Given the description of an element on the screen output the (x, y) to click on. 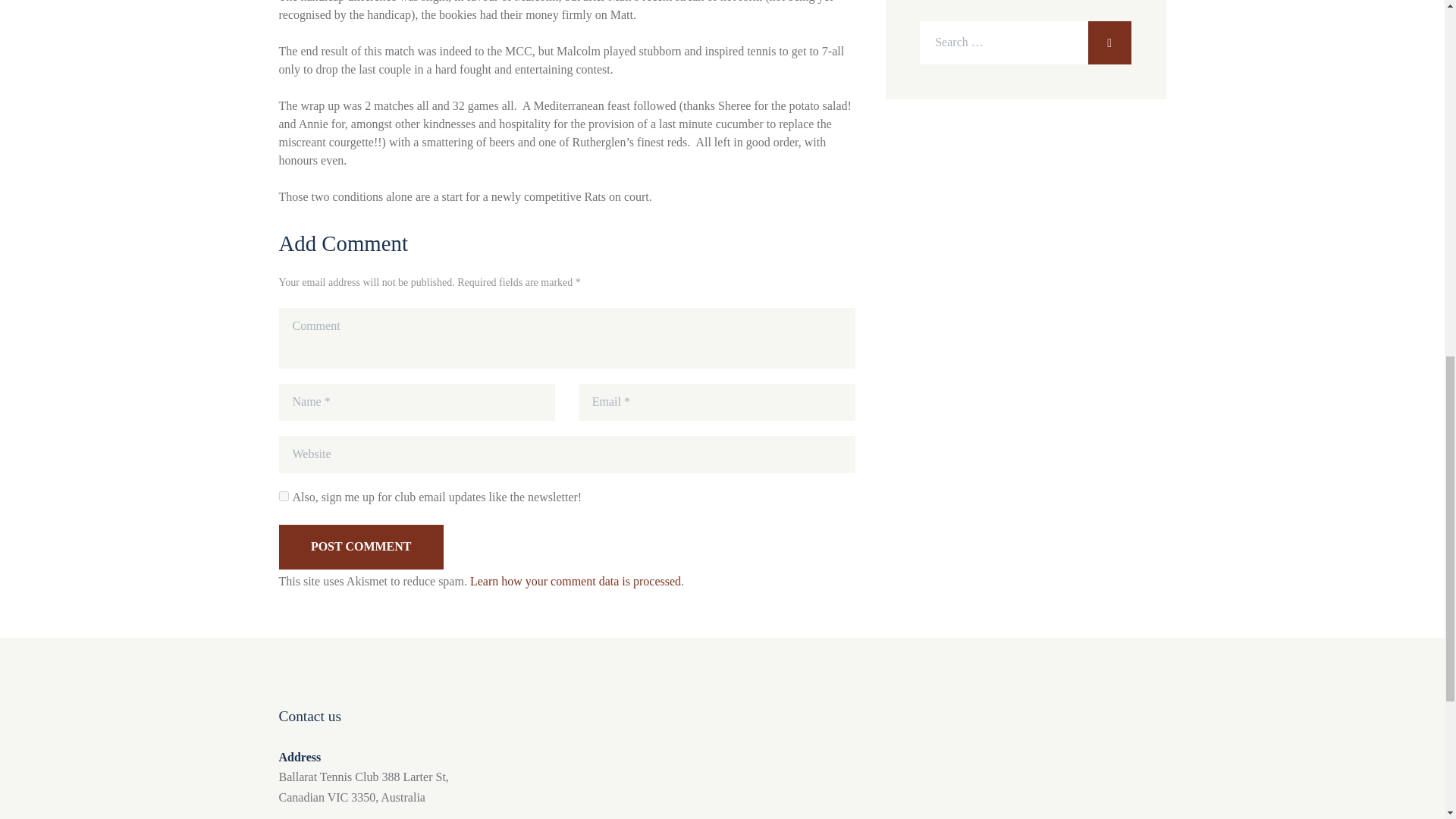
Post Comment (361, 546)
Learn how your comment data is processed (575, 581)
1 (283, 496)
Search for: (1025, 42)
Post Comment (361, 546)
